Given the description of an element on the screen output the (x, y) to click on. 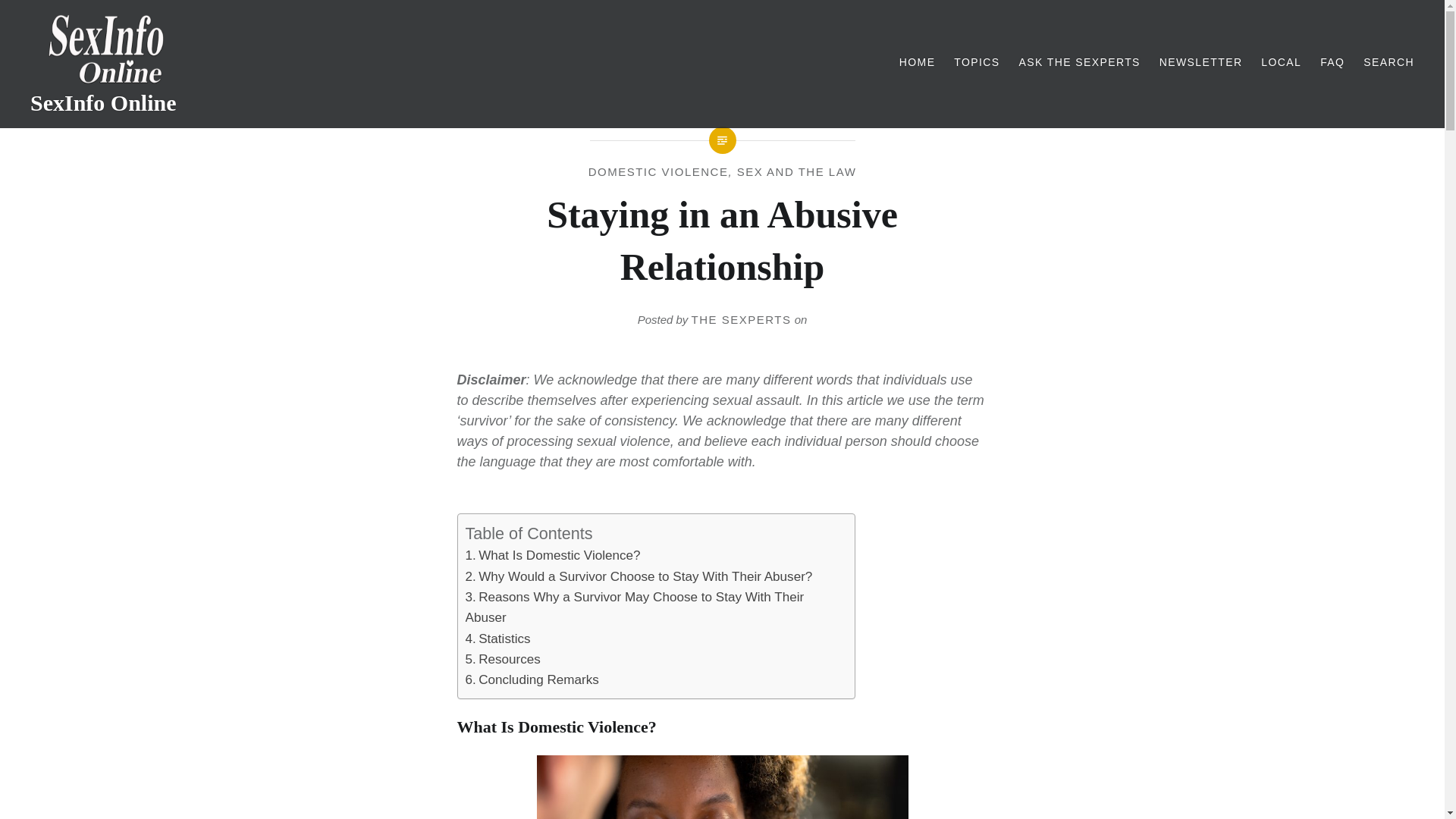
LOCAL (1280, 62)
ASK THE SEXPERTS (1078, 62)
TOPICS (975, 62)
Resources (502, 658)
THE SEXPERTS (741, 318)
SexInfo Online (103, 102)
What Is Domestic Violence? (552, 554)
Resources (502, 658)
DOMESTIC VIOLENCE (658, 171)
Why Would a Survivor Choose to Stay With Their Abuser? (638, 576)
Why Would a Survivor Choose to Stay With Their Abuser? (638, 576)
HOME (917, 62)
FAQ (1331, 62)
Concluding Remarks (531, 679)
What Is Domestic Violence? (552, 554)
